Given the description of an element on the screen output the (x, y) to click on. 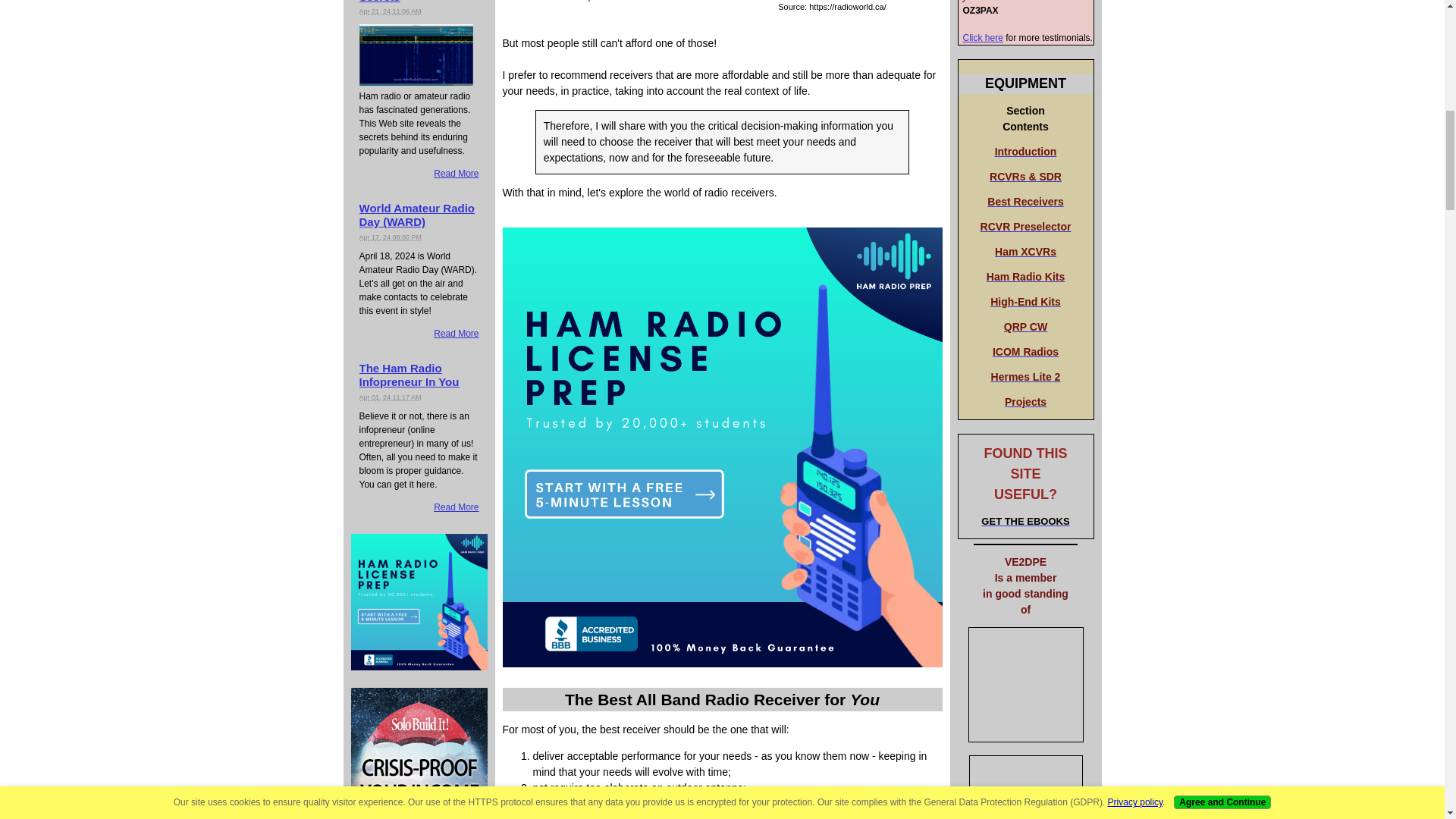
Radio Amateurs of Canada logo (1025, 684)
2024-04-17T20:00:00-0400 (390, 236)
2024-04-21T11:06:08-0400 (390, 11)
2024-04-01T11:17:57-0400 (390, 397)
